Given the description of an element on the screen output the (x, y) to click on. 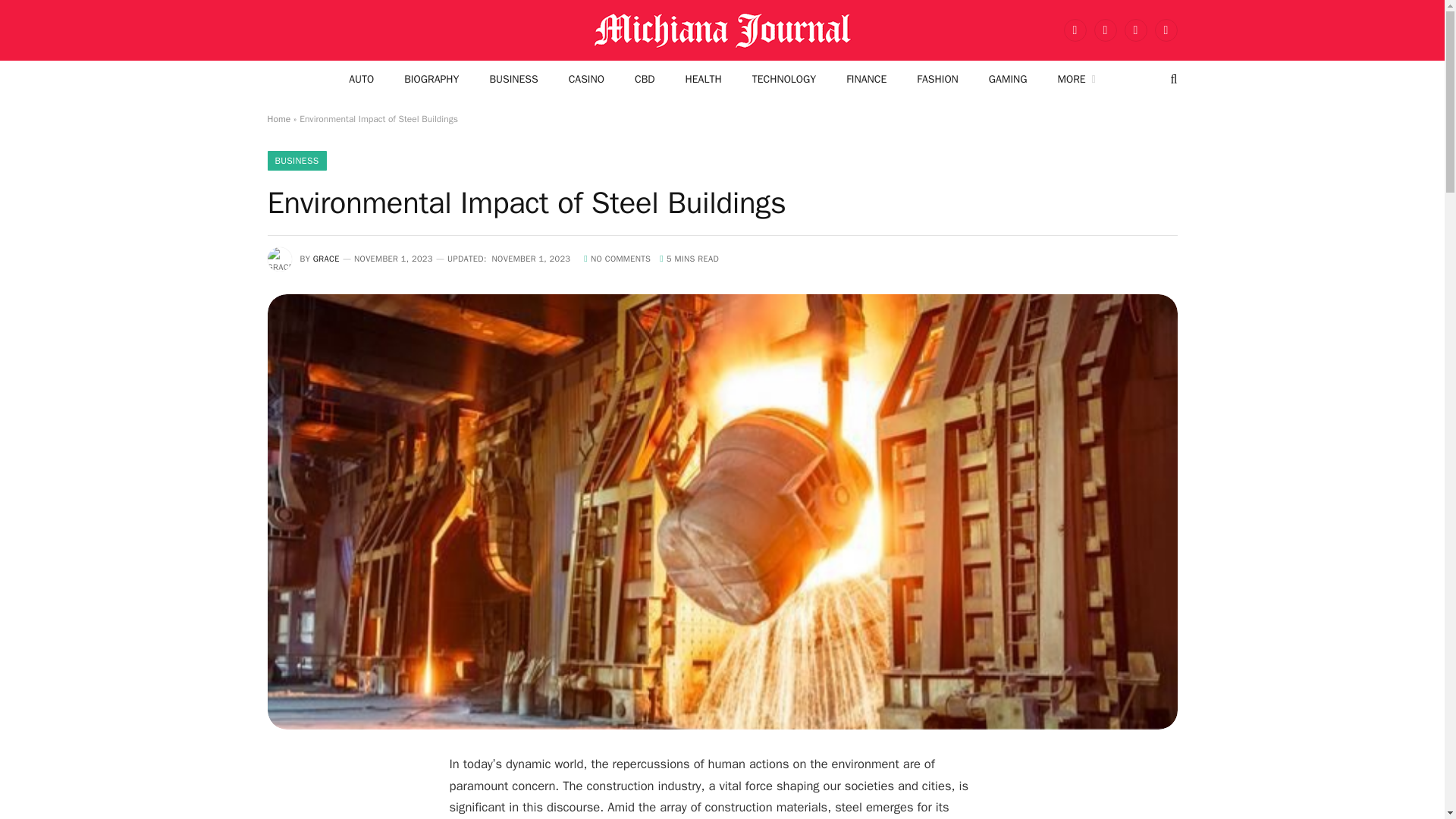
Home (277, 119)
HEALTH (702, 79)
CASINO (586, 79)
michianajournal.com (721, 30)
AUTO (360, 79)
FINANCE (866, 79)
BIOGRAPHY (431, 79)
MORE (1075, 79)
BUSINESS (513, 79)
